Given the description of an element on the screen output the (x, y) to click on. 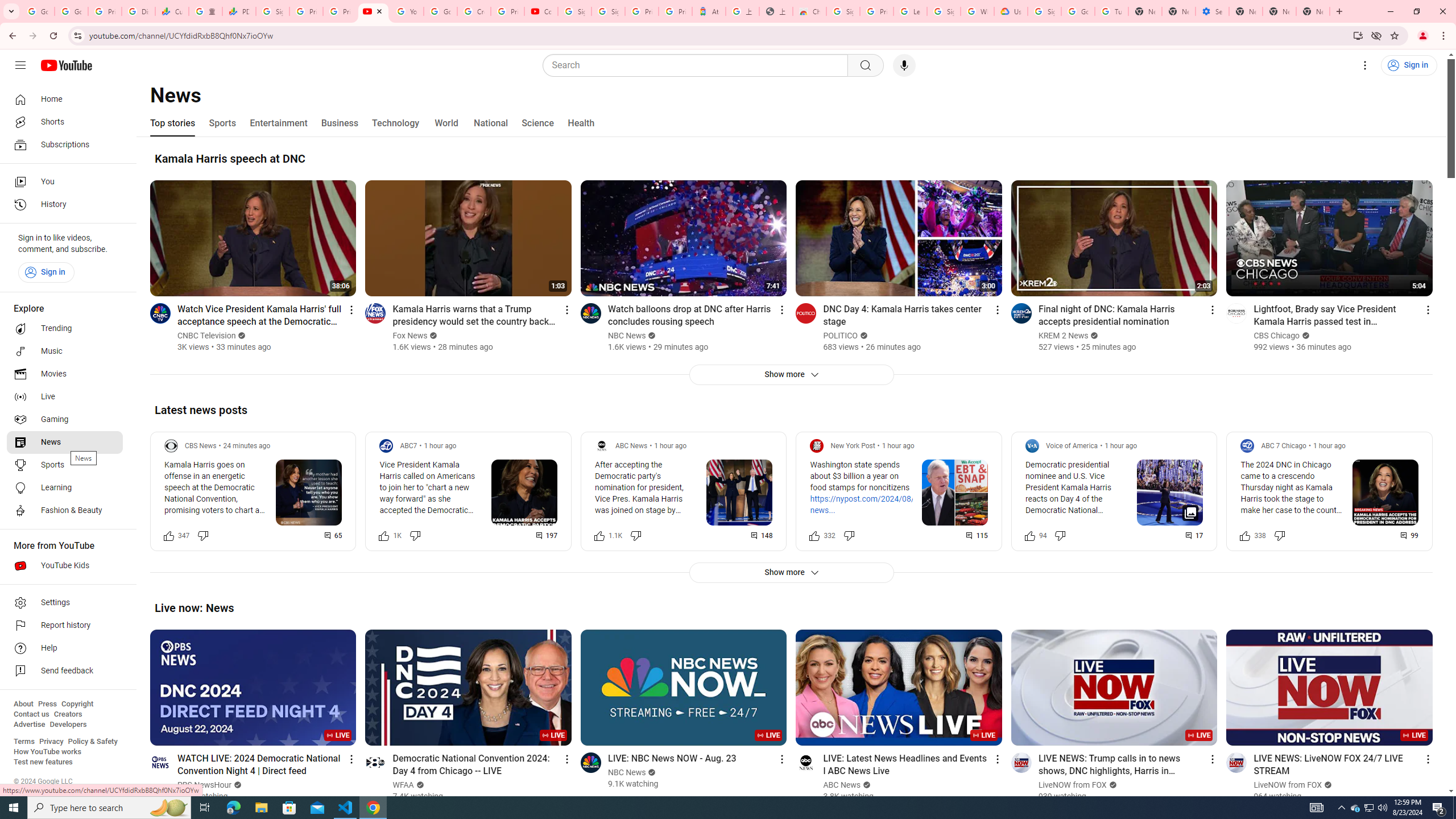
Sports (221, 122)
Science (537, 122)
Privacy (51, 741)
YouTube (406, 11)
Dislike this post (1278, 534)
Install YouTube (1358, 35)
Currencies - Google Finance (171, 11)
LiveNOW from FOX (1288, 784)
Subscriptions (64, 144)
Send feedback (64, 671)
CBS Chicago (1276, 335)
Sign in - Google Accounts (608, 11)
Movies (64, 373)
